Given the description of an element on the screen output the (x, y) to click on. 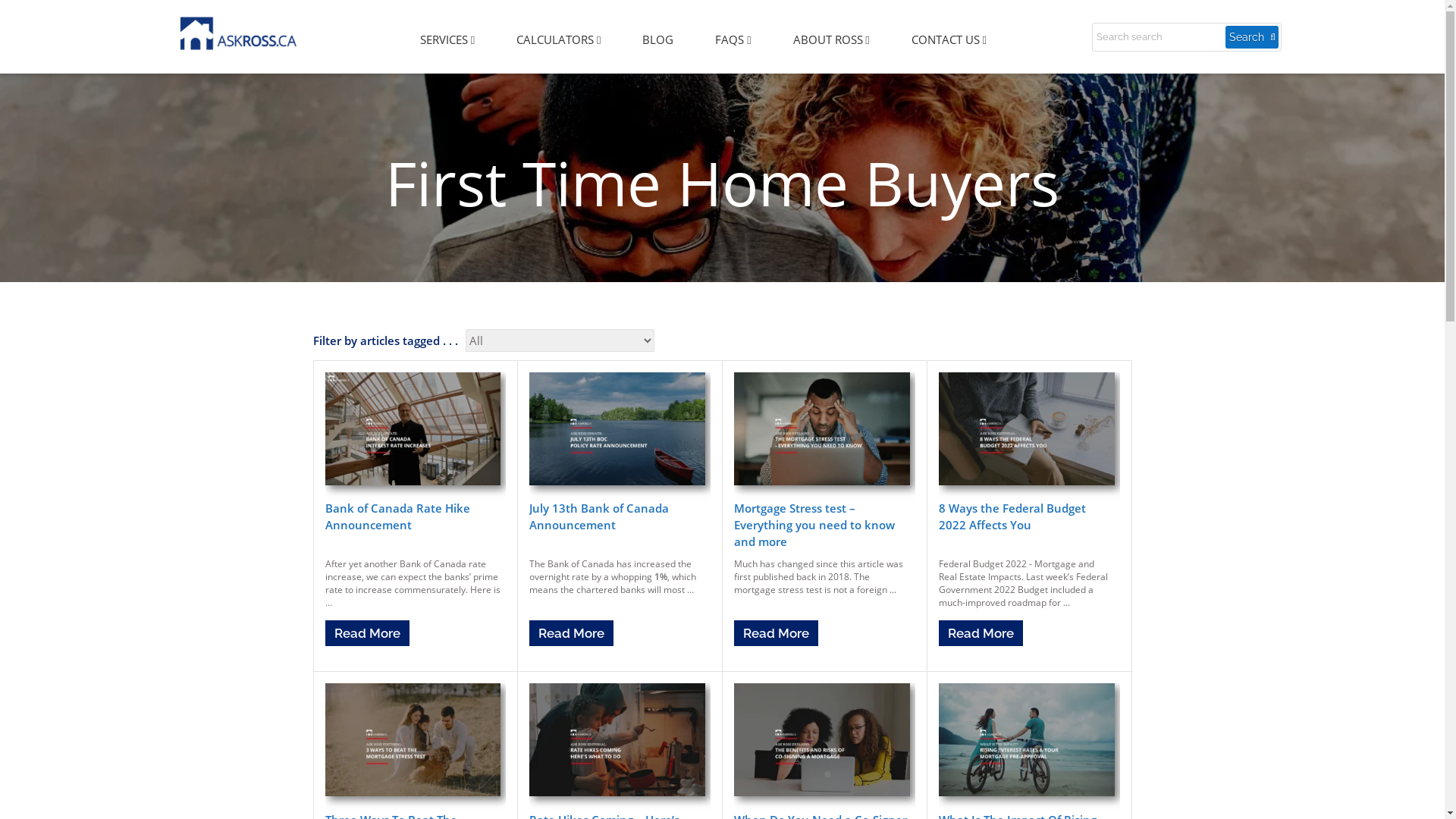
Read More Element type: text (776, 633)
8 Ways the Federal Budget 2022 Affects You Element type: text (1011, 516)
Read More Element type: text (366, 633)
Search Element type: text (1251, 36)
SERVICES Element type: text (447, 39)
Bank of Canada Rate Hike Announcement Element type: text (396, 516)
Read More Element type: text (980, 633)
Read More Element type: text (571, 633)
CONTACT US Element type: text (948, 39)
home Element type: hover (238, 35)
July 13th Bank of Canada Announcement Element type: text (598, 516)
FAQS Element type: text (732, 39)
BLOG Element type: text (657, 39)
ABOUT ROSS Element type: text (831, 39)
CALCULATORS Element type: text (558, 39)
